Given the description of an element on the screen output the (x, y) to click on. 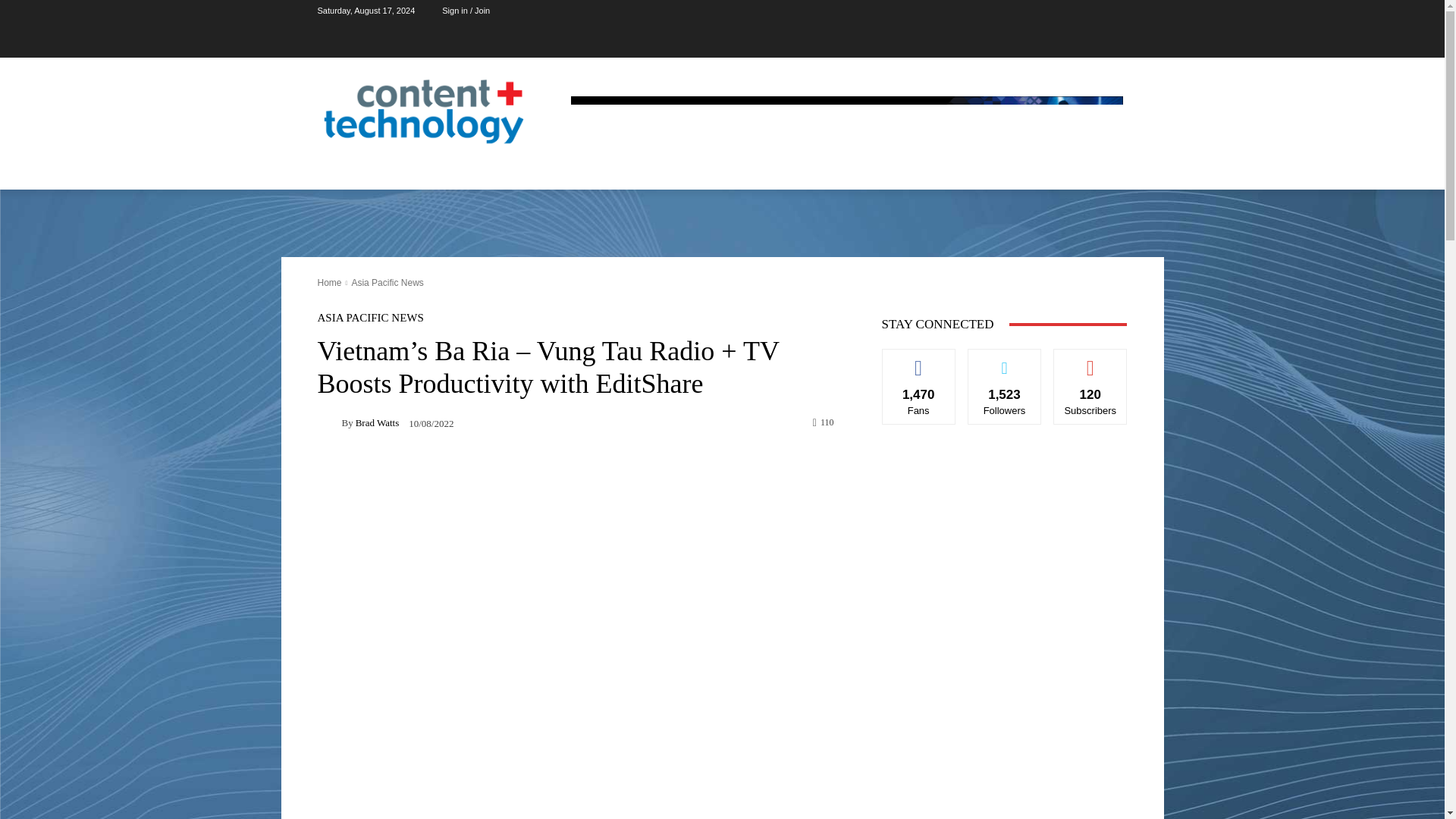
View all posts in Asia Pacific News (386, 282)
Ross Video  (846, 130)
Brad Watts (328, 422)
